Given the description of an element on the screen output the (x, y) to click on. 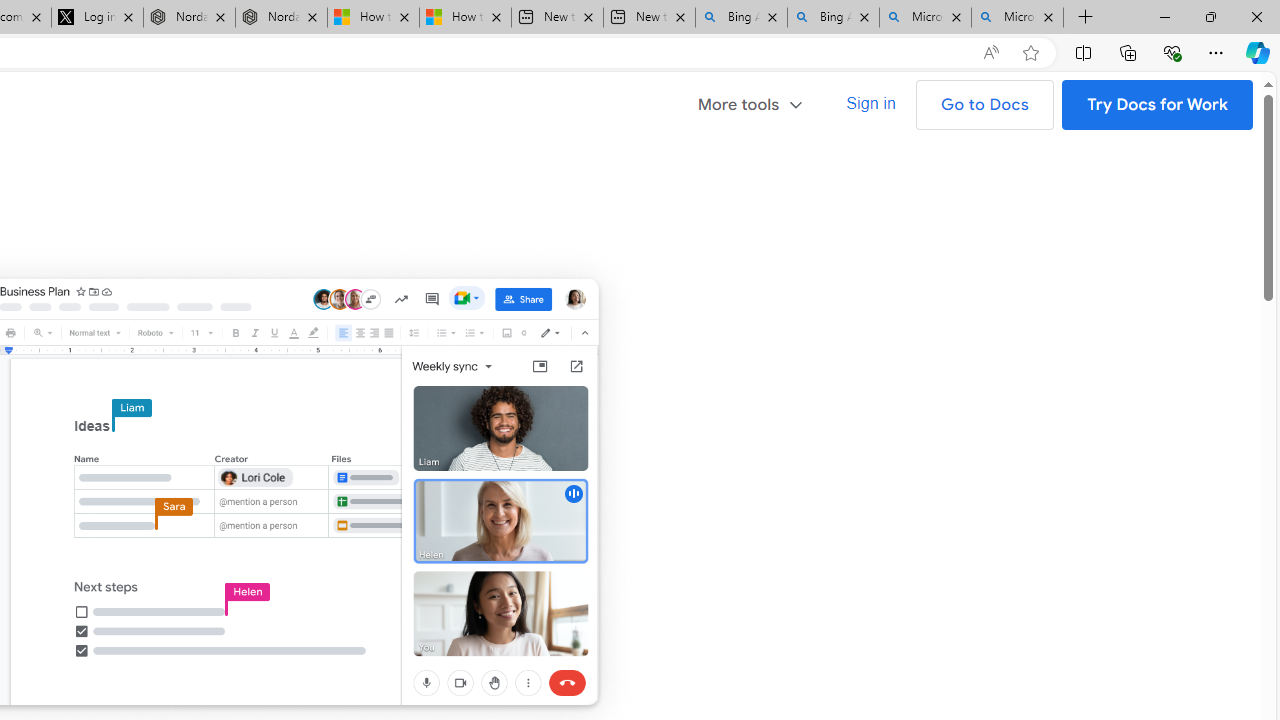
Sign in (870, 103)
Try Docs for Work (1157, 104)
Bing AI - Search (833, 17)
